Given the description of an element on the screen output the (x, y) to click on. 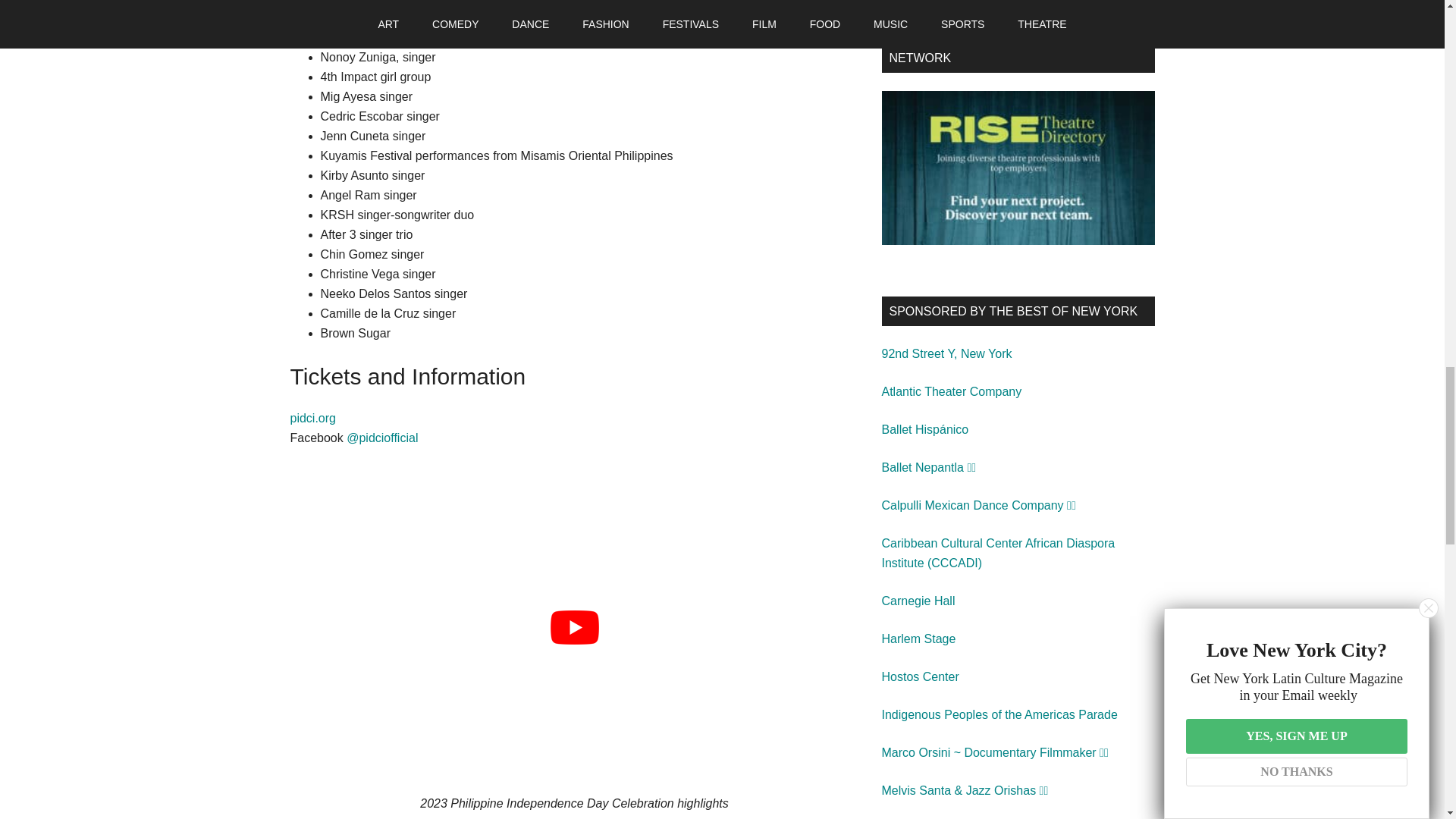
pidci.org (311, 418)
